Given the description of an element on the screen output the (x, y) to click on. 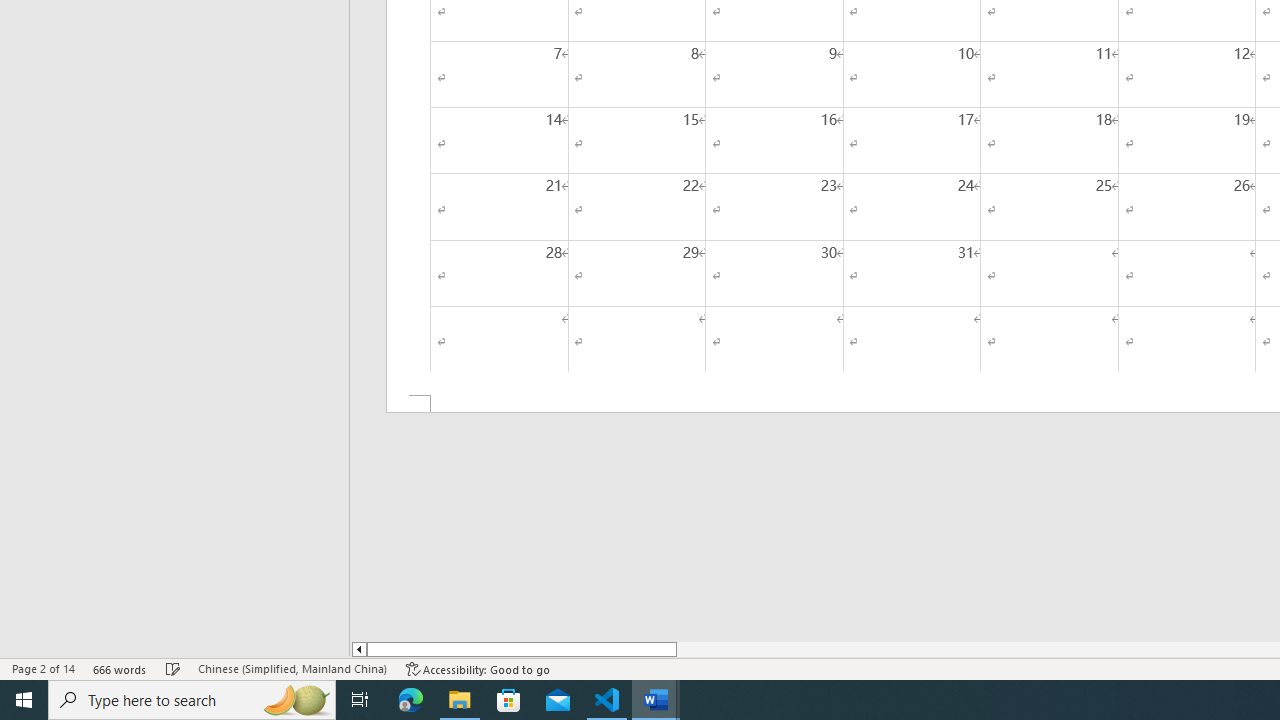
Page Number Page 2 of 14 (43, 668)
Column left (358, 649)
